Given the description of an element on the screen output the (x, y) to click on. 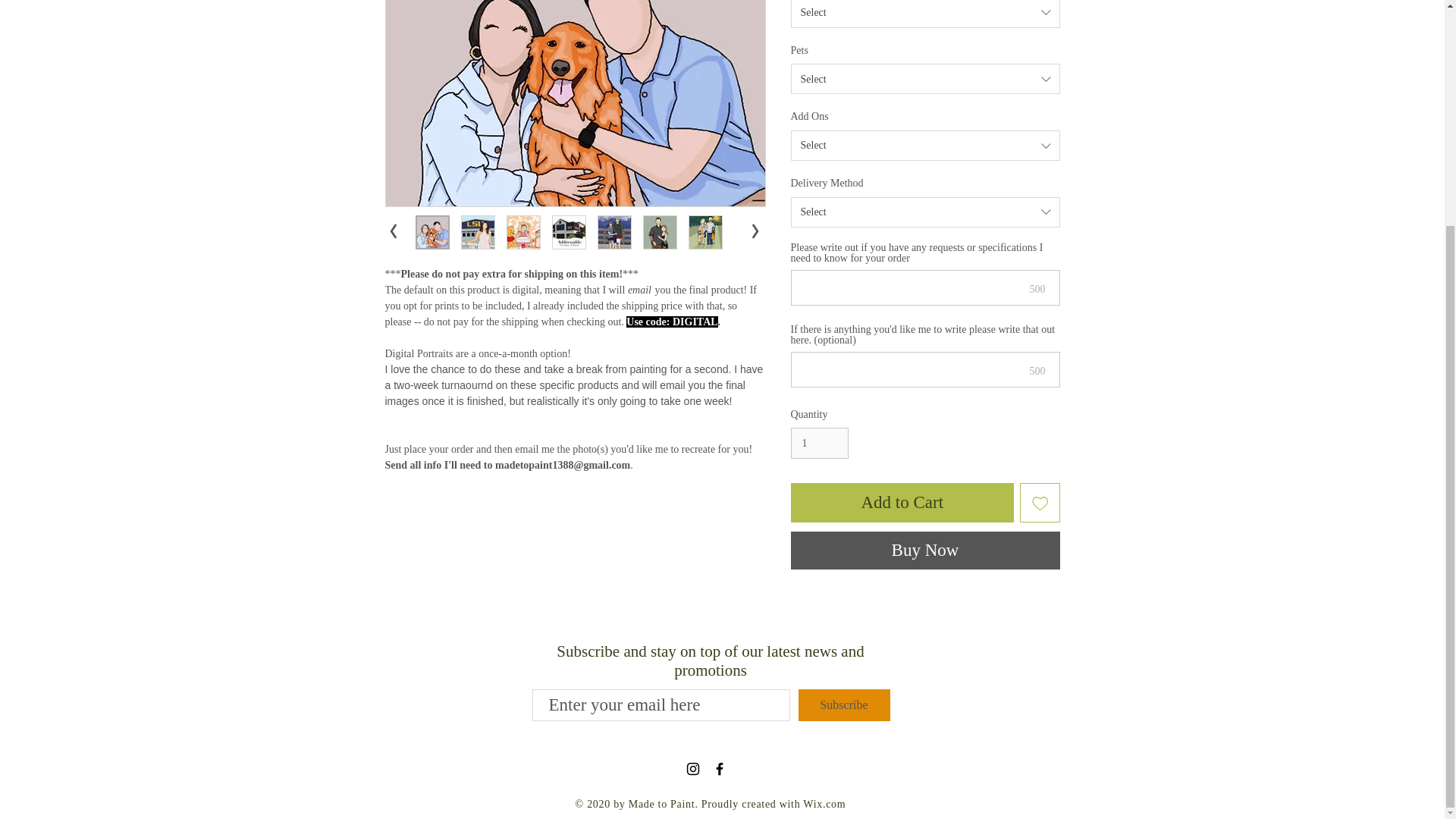
Select (924, 78)
Select (924, 145)
Add to Cart (901, 503)
Wix.com (824, 803)
1 (818, 442)
Subscribe (843, 705)
Buy Now (924, 550)
Select (924, 13)
Select (924, 212)
